Given the description of an element on the screen output the (x, y) to click on. 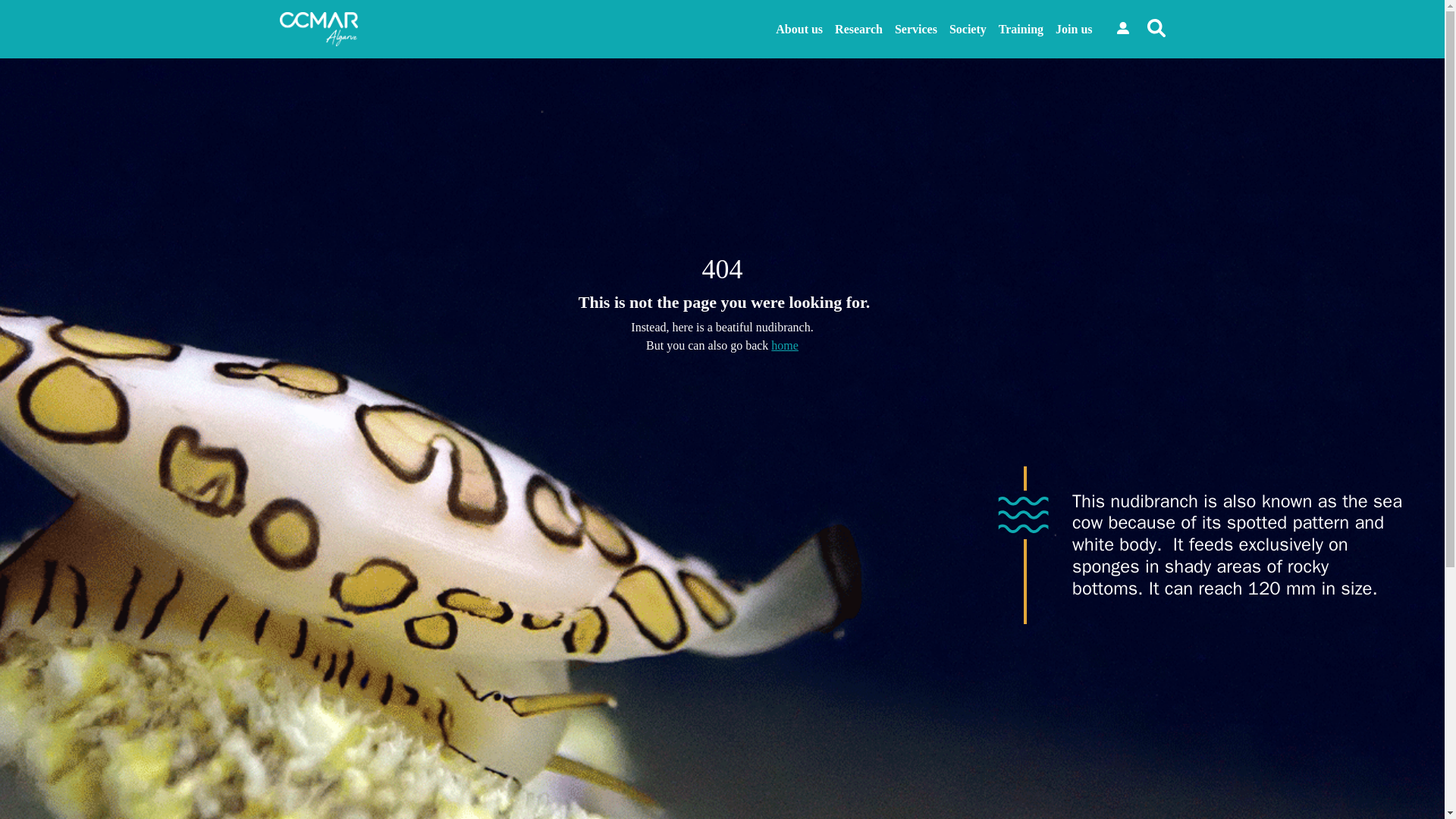
Home (784, 345)
User (1122, 28)
